Given the description of an element on the screen output the (x, y) to click on. 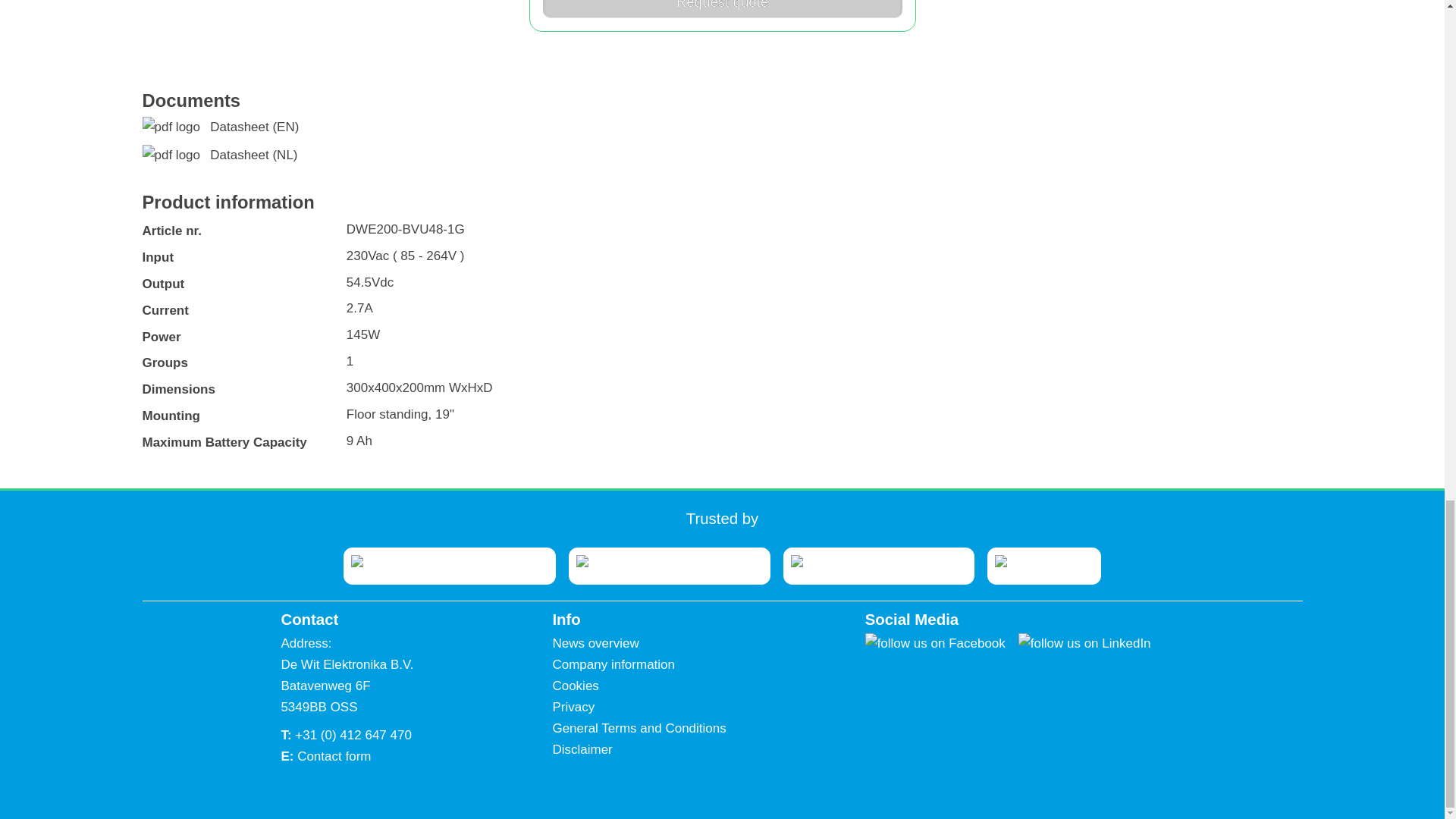
website VolkerWessels Telecom (878, 564)
Request quote (722, 9)
Follow us on Facebook (940, 643)
News overview (595, 643)
General Terms and Conditions (638, 728)
Disclaimer (581, 749)
website Juva (669, 564)
website Van Den Heuvel (449, 564)
Follow us on LinkedIn (1090, 643)
Company information (613, 664)
Privacy (572, 707)
website ComViNet (1043, 564)
Request quote (722, 9)
Contact form (334, 756)
Cookies (574, 685)
